Given the description of an element on the screen output the (x, y) to click on. 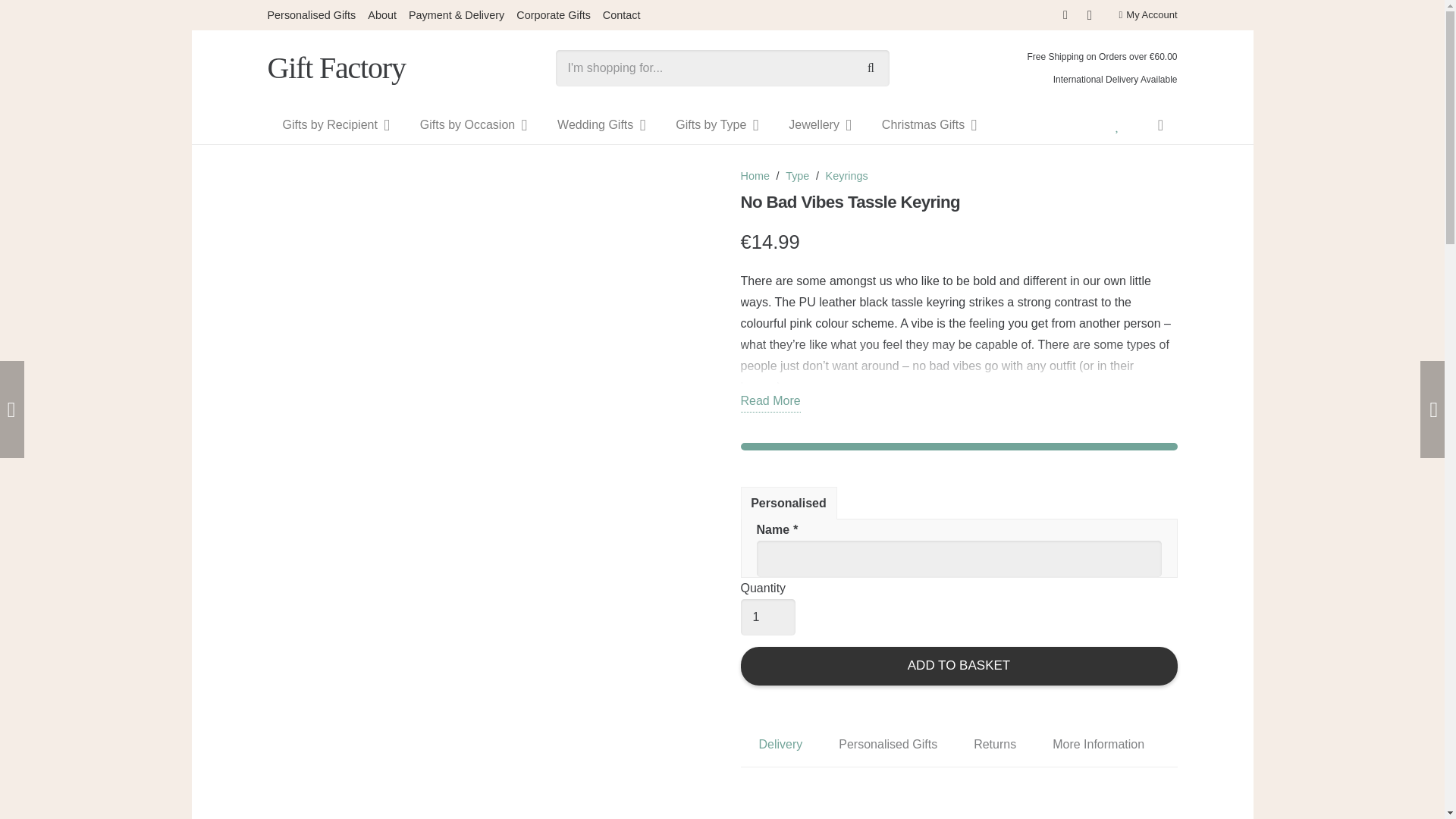
Facebook (1064, 15)
Instagram (1089, 15)
My Account (1147, 14)
Gift Factory (335, 67)
About (382, 15)
Corporate Gifts (553, 15)
Personalised Gifts (310, 15)
Contact (621, 15)
Gifts by Recipient (335, 125)
1 (766, 616)
